Given the description of an element on the screen output the (x, y) to click on. 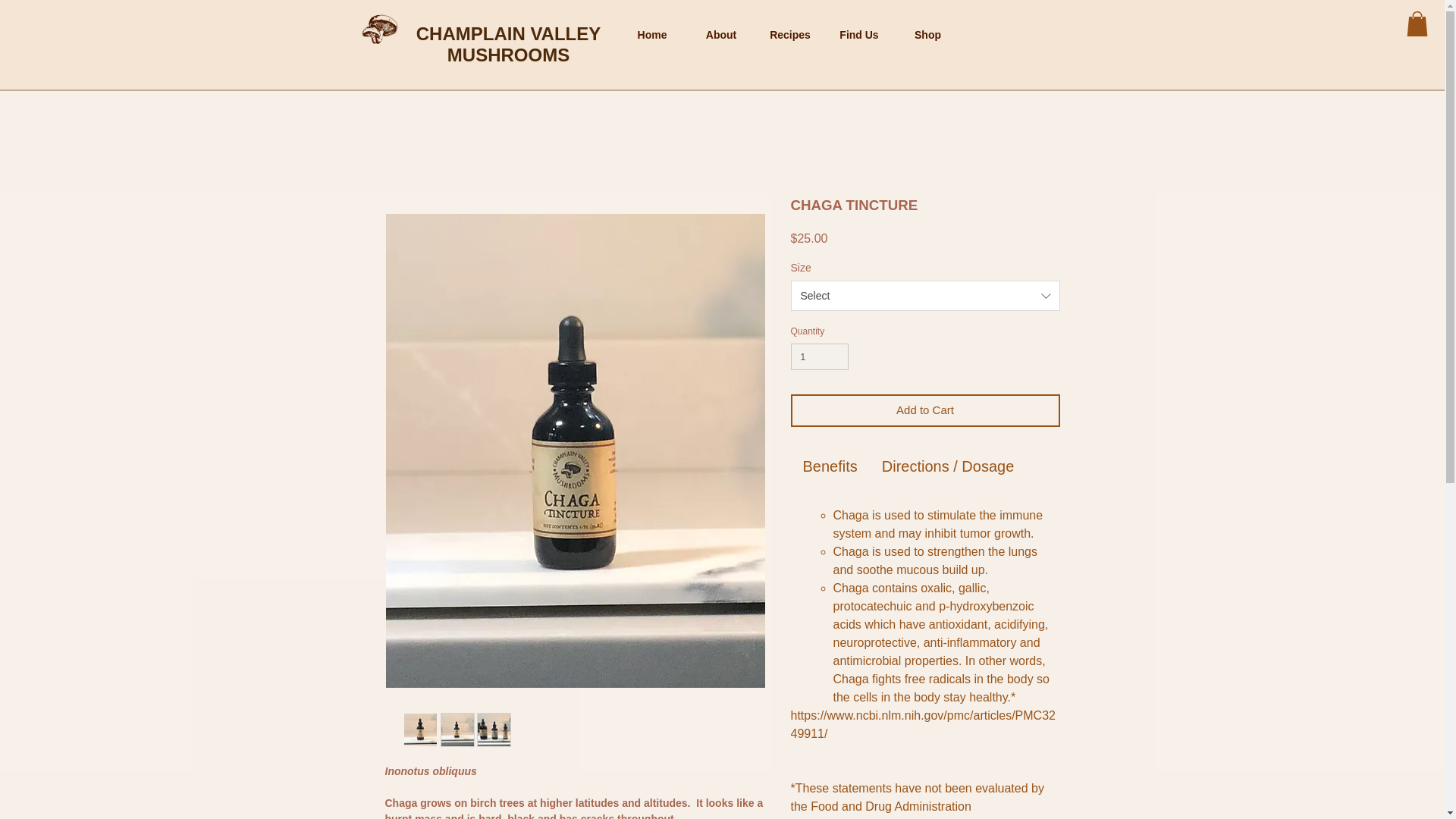
Use right and left arrows to navigate between tabs (947, 466)
About (721, 34)
Recipes (789, 34)
Shop (926, 34)
Use right and left arrows to navigate between tabs (829, 466)
Select (924, 295)
Find Us (859, 34)
1 (818, 356)
Add to Cart (924, 409)
Home (651, 34)
